Given the description of an element on the screen output the (x, y) to click on. 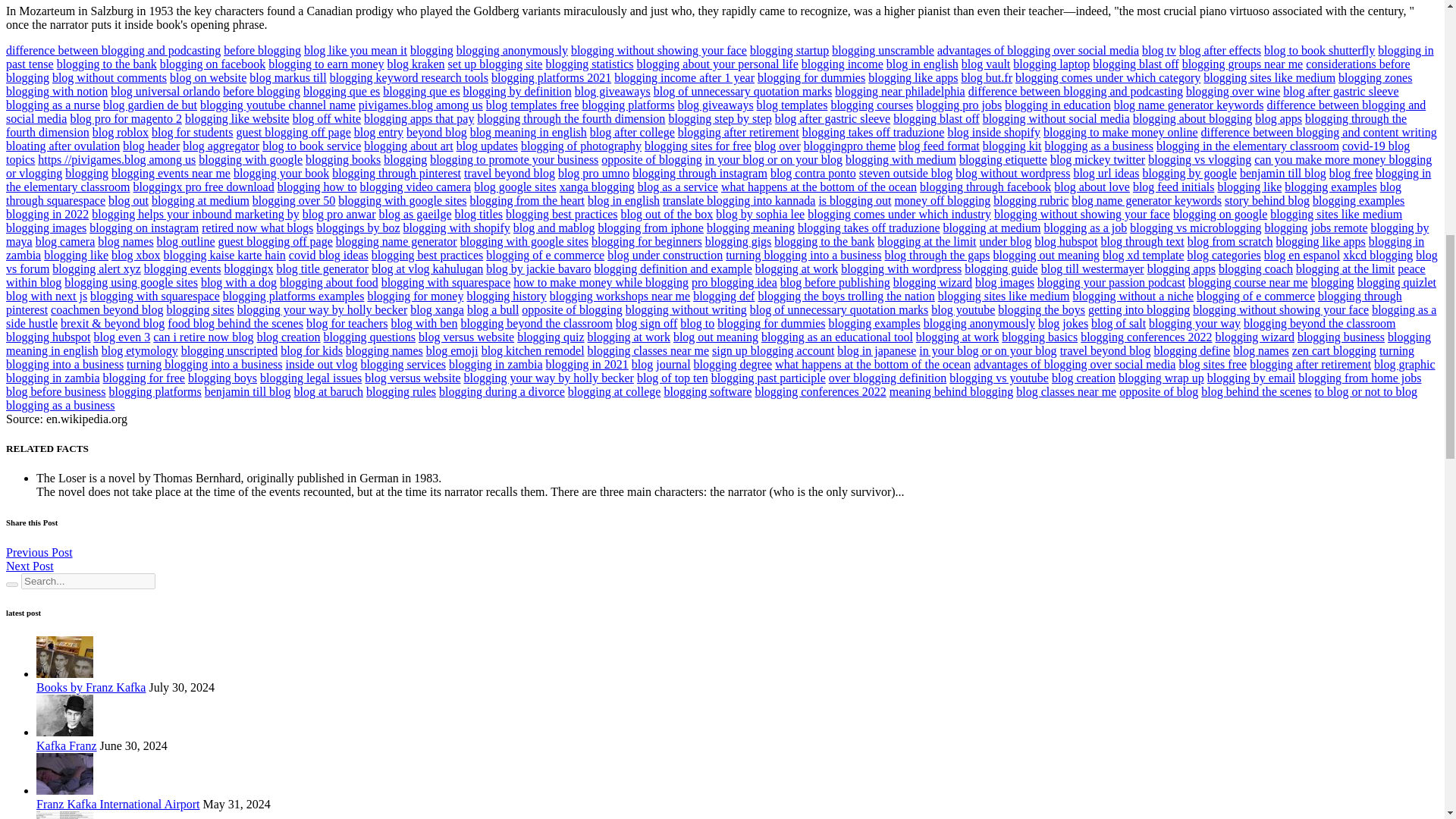
Search (11, 584)
difference between blogging and podcasting (113, 50)
blog to book shutterfly (1318, 50)
blogging income (842, 63)
blog in english (922, 63)
blogging to the bank (106, 63)
advantages of blogging over social media (1037, 50)
blog vault (985, 63)
blogging statistics (588, 63)
blog tv (1158, 50)
